Given the description of an element on the screen output the (x, y) to click on. 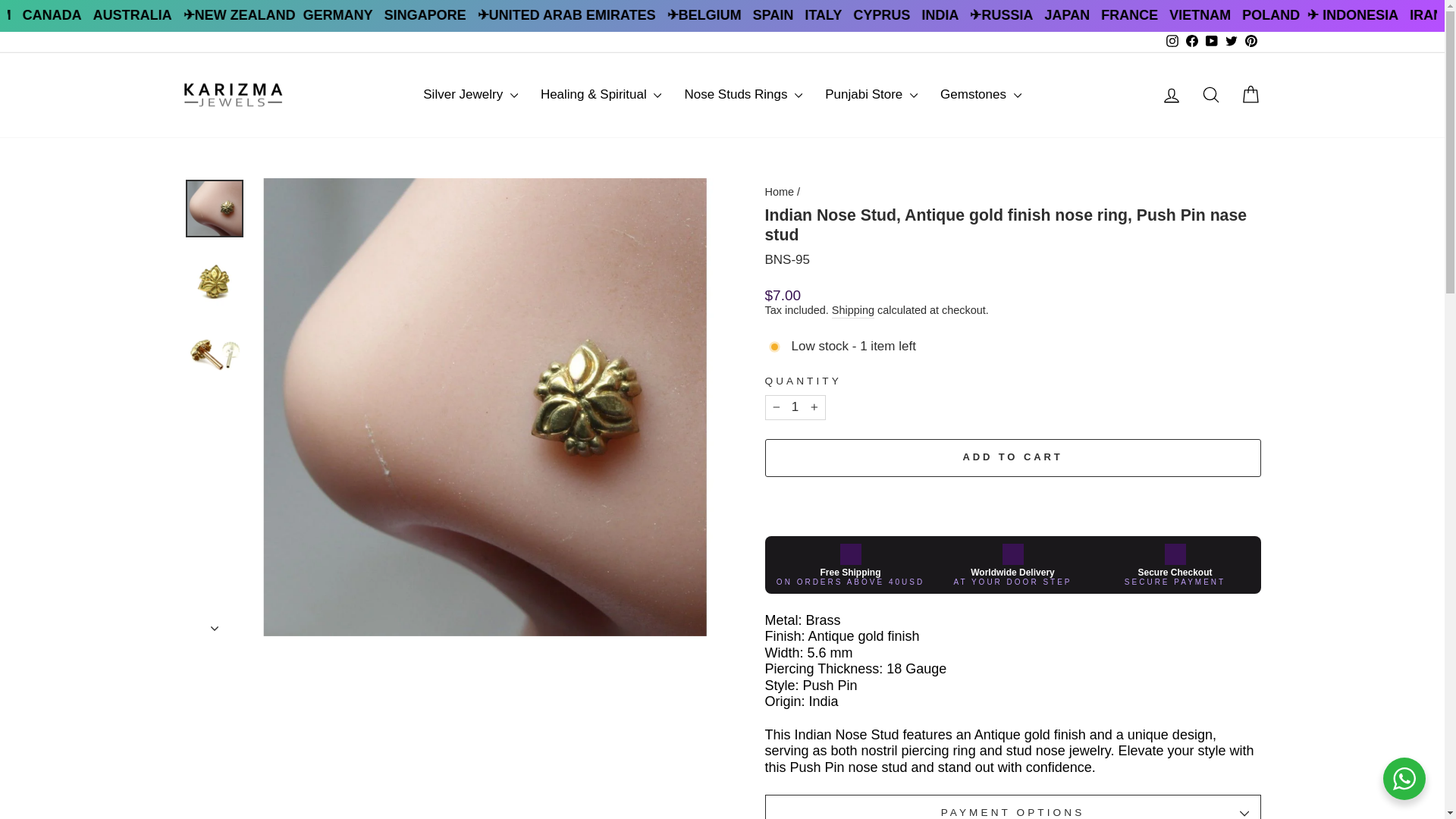
account (1170, 95)
twitter (1231, 40)
Karizma Jewels on Instagram (1170, 41)
Karizma Jewels on YouTube (1211, 41)
icon-search (1210, 94)
Back to the frontpage (778, 191)
Karizma Jewels on Twitter (1230, 41)
Karizma Jewels on Pinterest (1250, 41)
instagram (1171, 40)
